Given the description of an element on the screen output the (x, y) to click on. 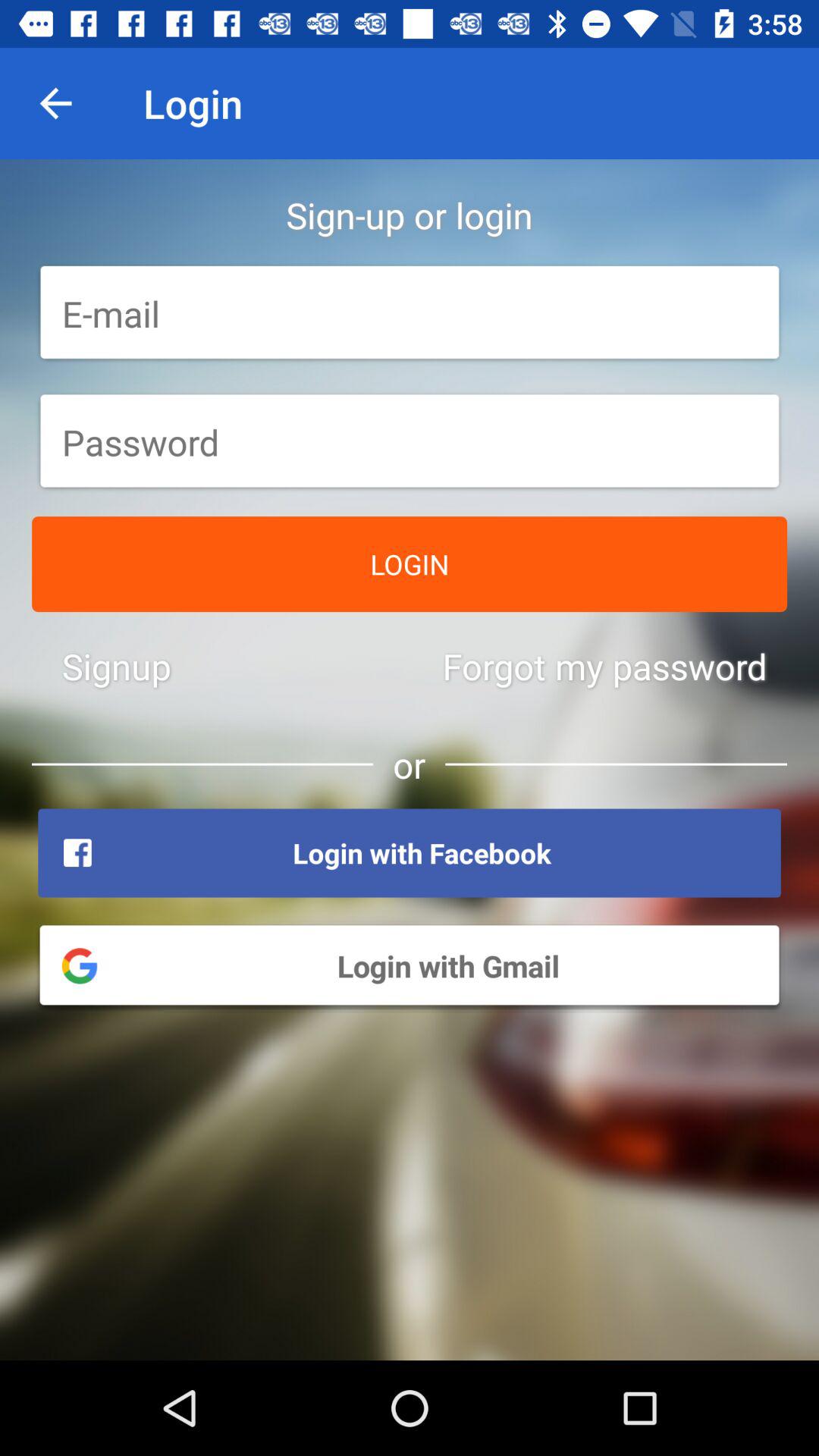
select icon to the left of login item (55, 103)
